Given the description of an element on the screen output the (x, y) to click on. 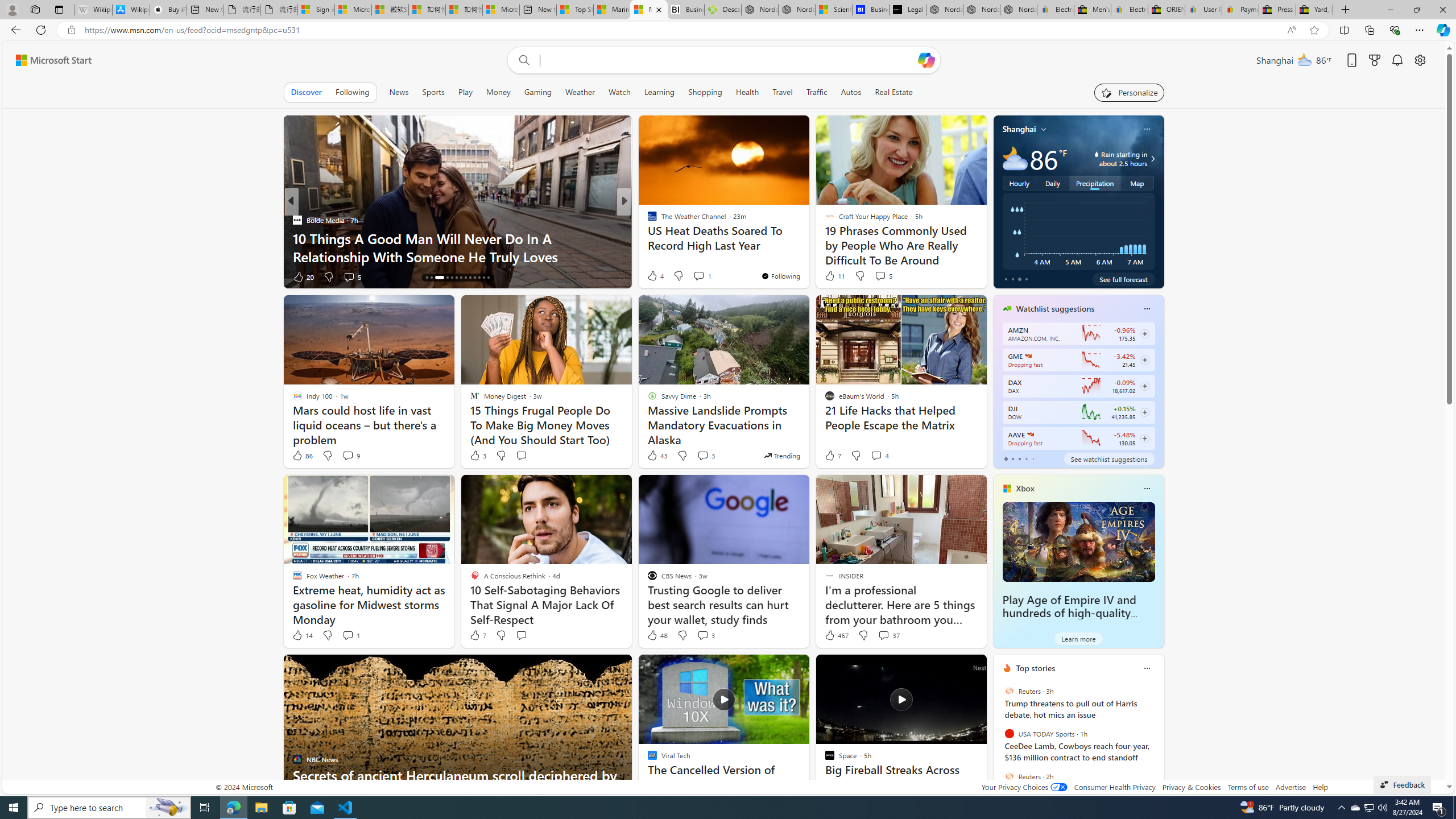
Traffic (816, 92)
Travel (782, 92)
AutomationID: tab-15 (431, 277)
View comments 53 Comment (703, 276)
View comments 11 Comment (703, 276)
Learning (659, 92)
467 Like (835, 634)
Enter your search term (726, 59)
48 Like (657, 634)
Reuters (1008, 775)
Skip to content (49, 59)
Buy iPad - Apple (168, 9)
